Given the description of an element on the screen output the (x, y) to click on. 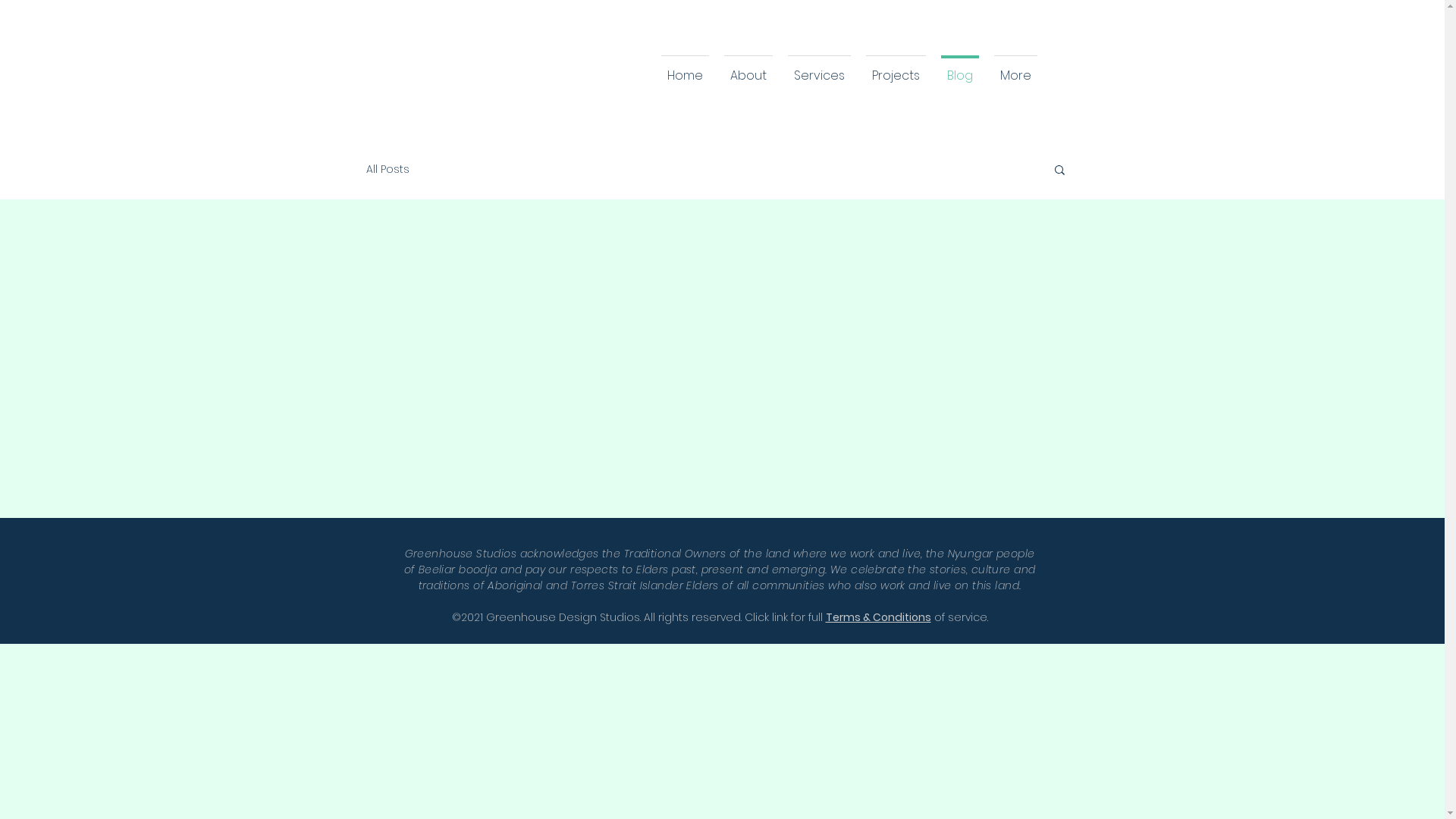
Greenhouse_logo_2021.png Element type: hover (444, 70)
Terms & Conditions Element type: text (877, 616)
Projects Element type: text (895, 68)
All Posts Element type: text (386, 168)
About Element type: text (747, 68)
Services Element type: text (818, 68)
Blog Element type: text (958, 68)
Home Element type: text (684, 68)
